Given the description of an element on the screen output the (x, y) to click on. 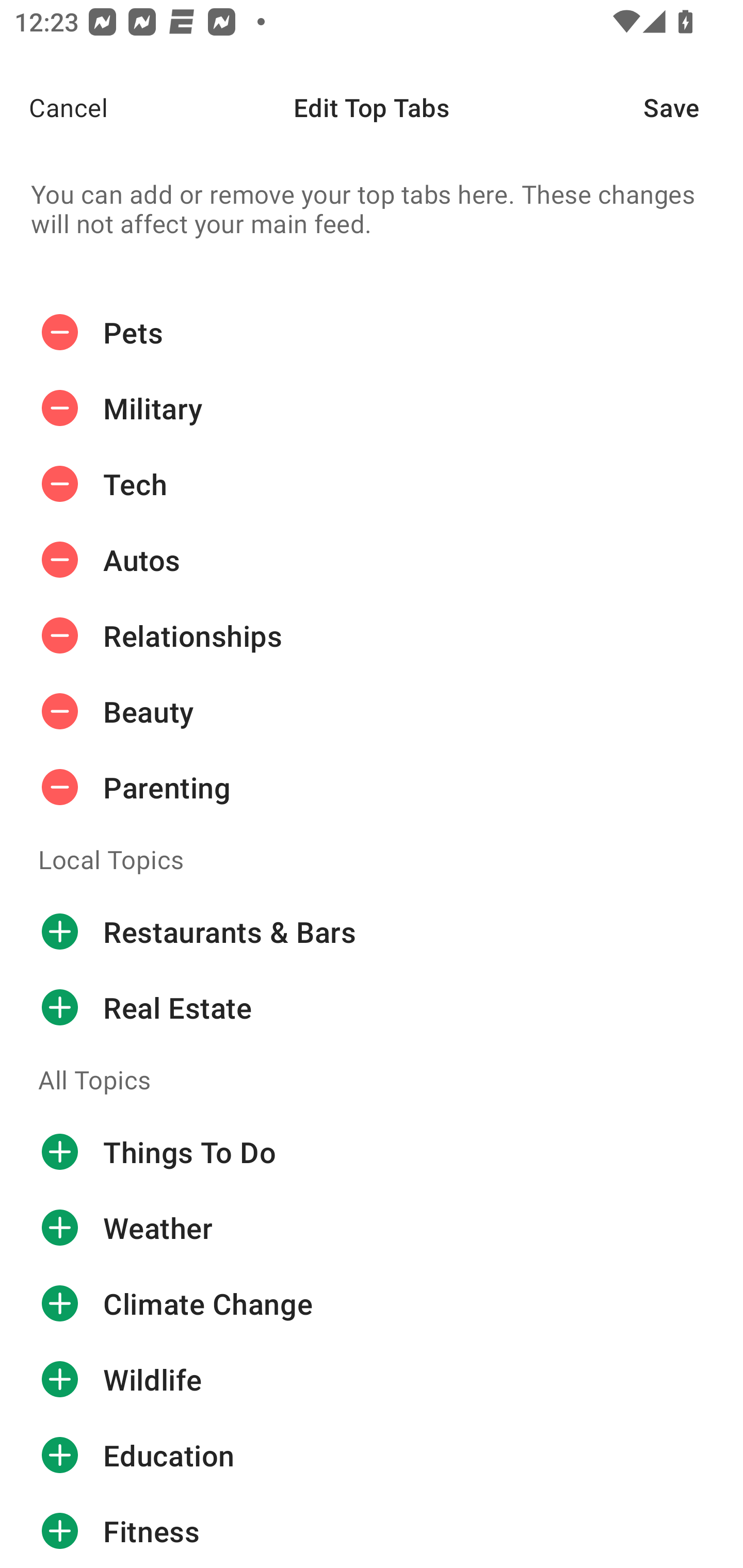
Cancel (53, 106)
Save (693, 106)
Pets (371, 332)
Military (371, 408)
Tech (371, 484)
Autos (371, 559)
Relationships (371, 635)
Beauty (371, 711)
Parenting (371, 786)
Restaurants & Bars (371, 931)
Real Estate (371, 1007)
Things To Do (371, 1152)
Weather (371, 1227)
Climate Change (371, 1303)
Wildlife (371, 1379)
Education (371, 1454)
Fitness (371, 1530)
